Given the description of an element on the screen output the (x, y) to click on. 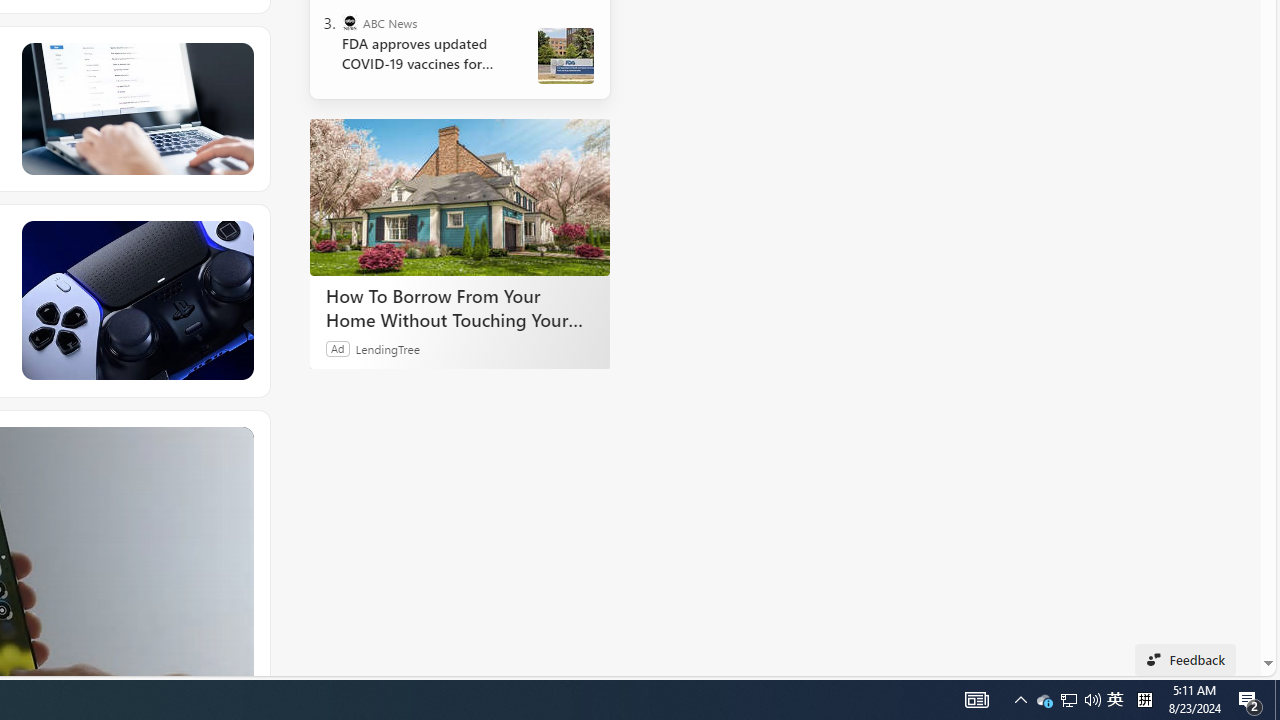
ABC News (349, 22)
LendingTree (387, 348)
